Given the description of an element on the screen output the (x, y) to click on. 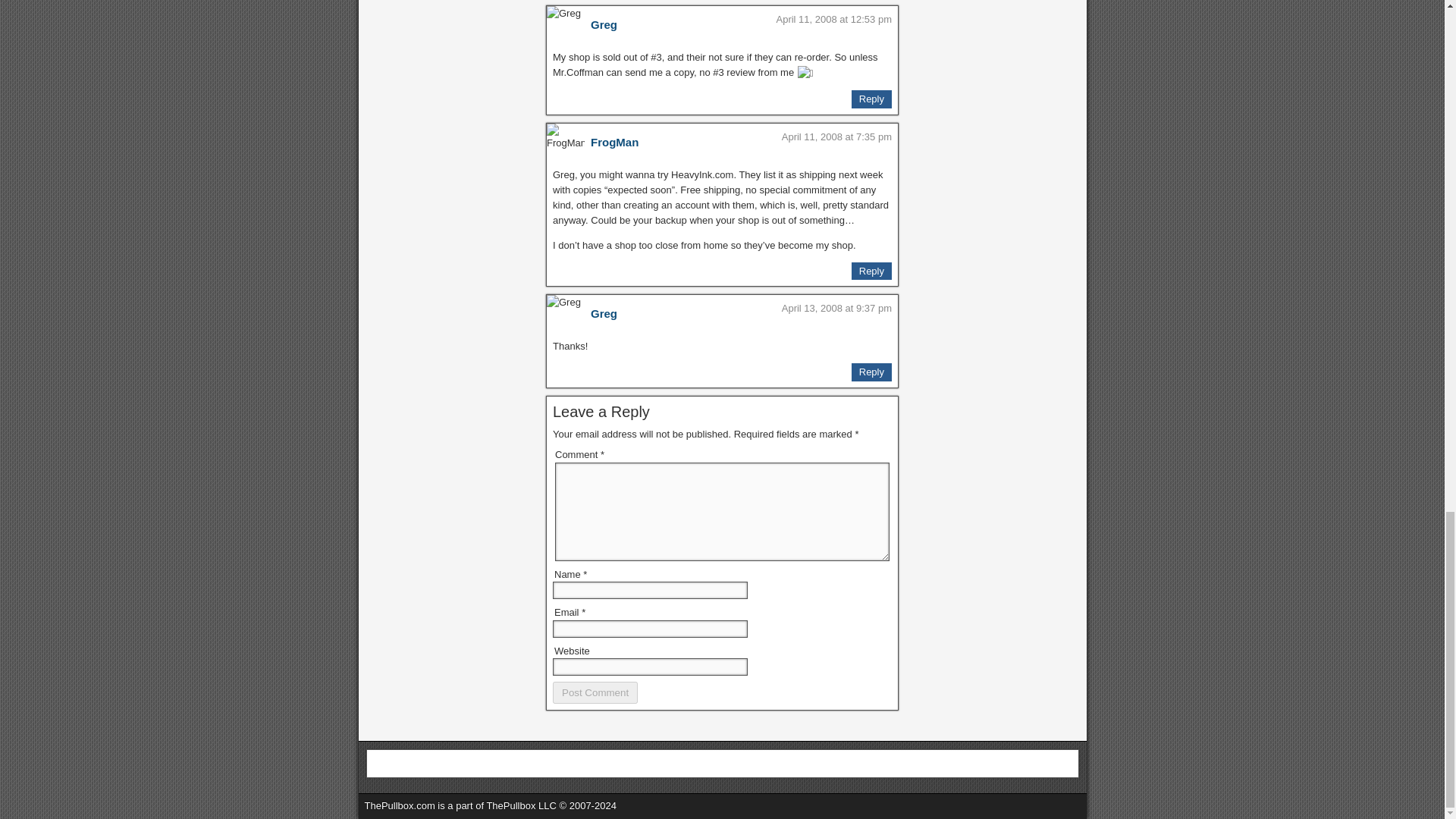
Greg (604, 313)
FrogMan (615, 141)
April 11, 2008 at 12:53 pm (834, 19)
Reply (871, 99)
Reply (871, 372)
April 11, 2008 at 7:35 pm (836, 136)
Post Comment (595, 692)
April 13, 2008 at 9:37 pm (836, 307)
Reply (871, 271)
Post Comment (595, 692)
